Given the description of an element on the screen output the (x, y) to click on. 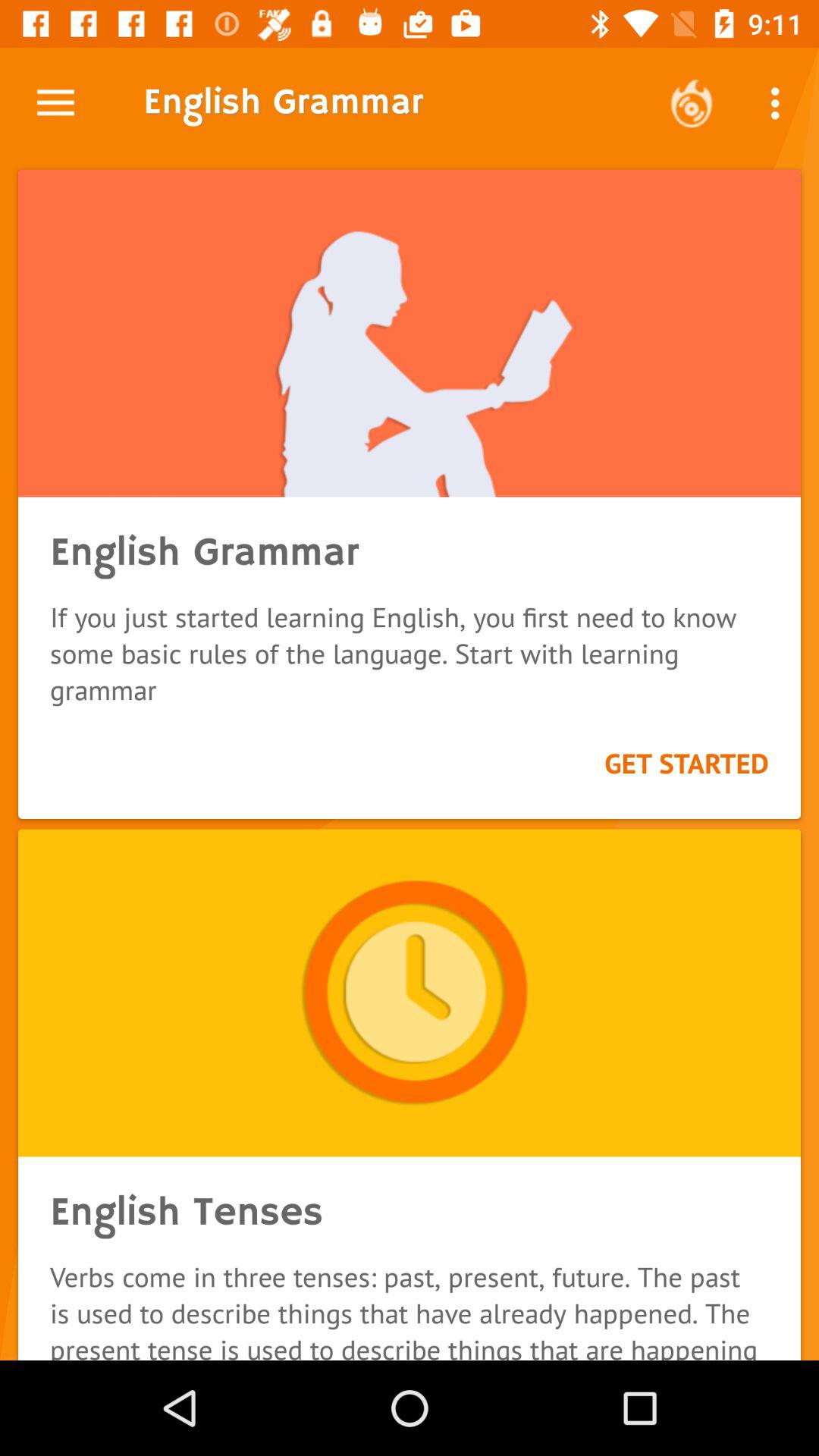
select icon to the left of english grammar (55, 103)
